Given the description of an element on the screen output the (x, y) to click on. 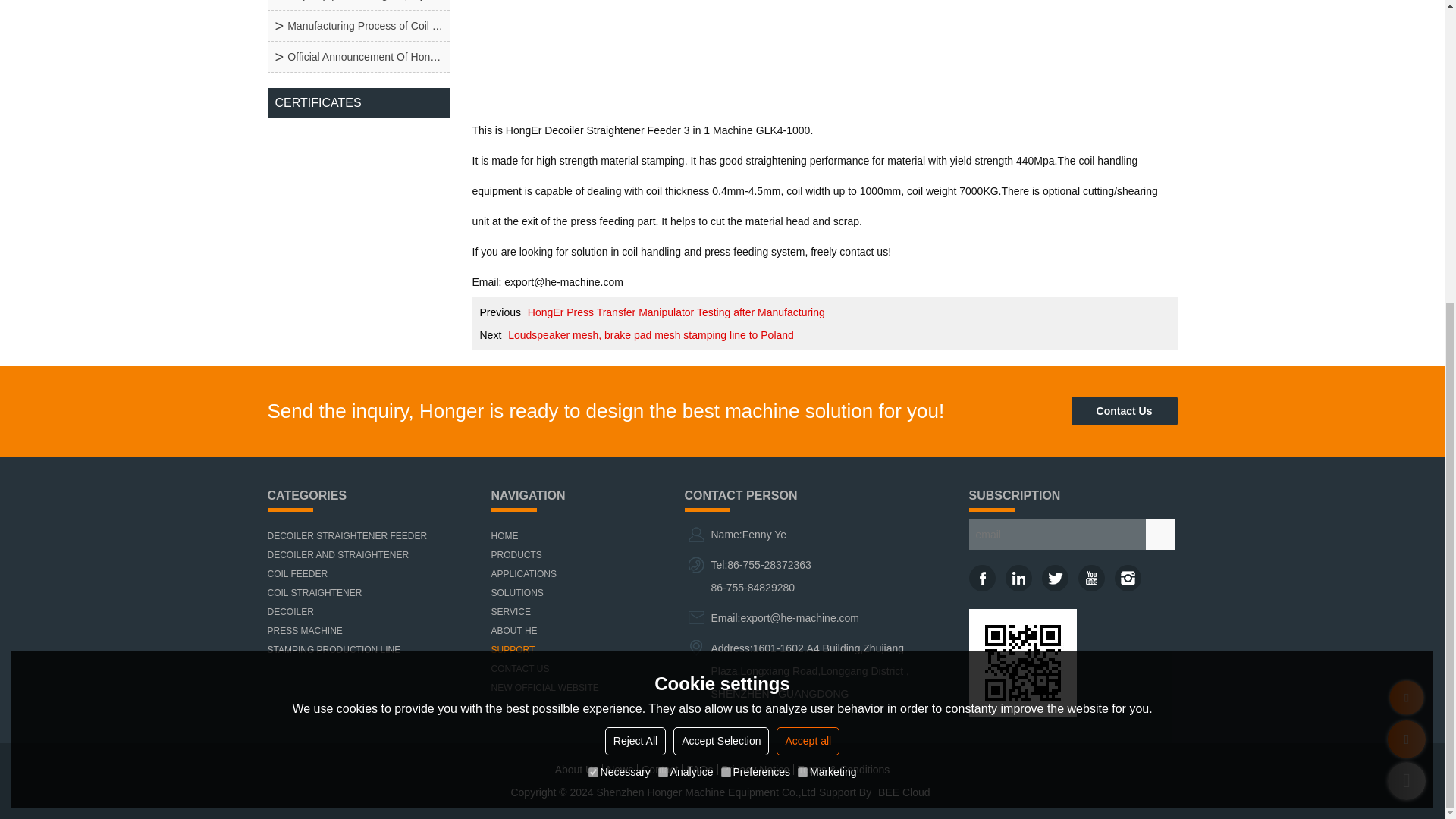
on (802, 300)
on (725, 300)
on (663, 300)
on (593, 300)
